Given the description of an element on the screen output the (x, y) to click on. 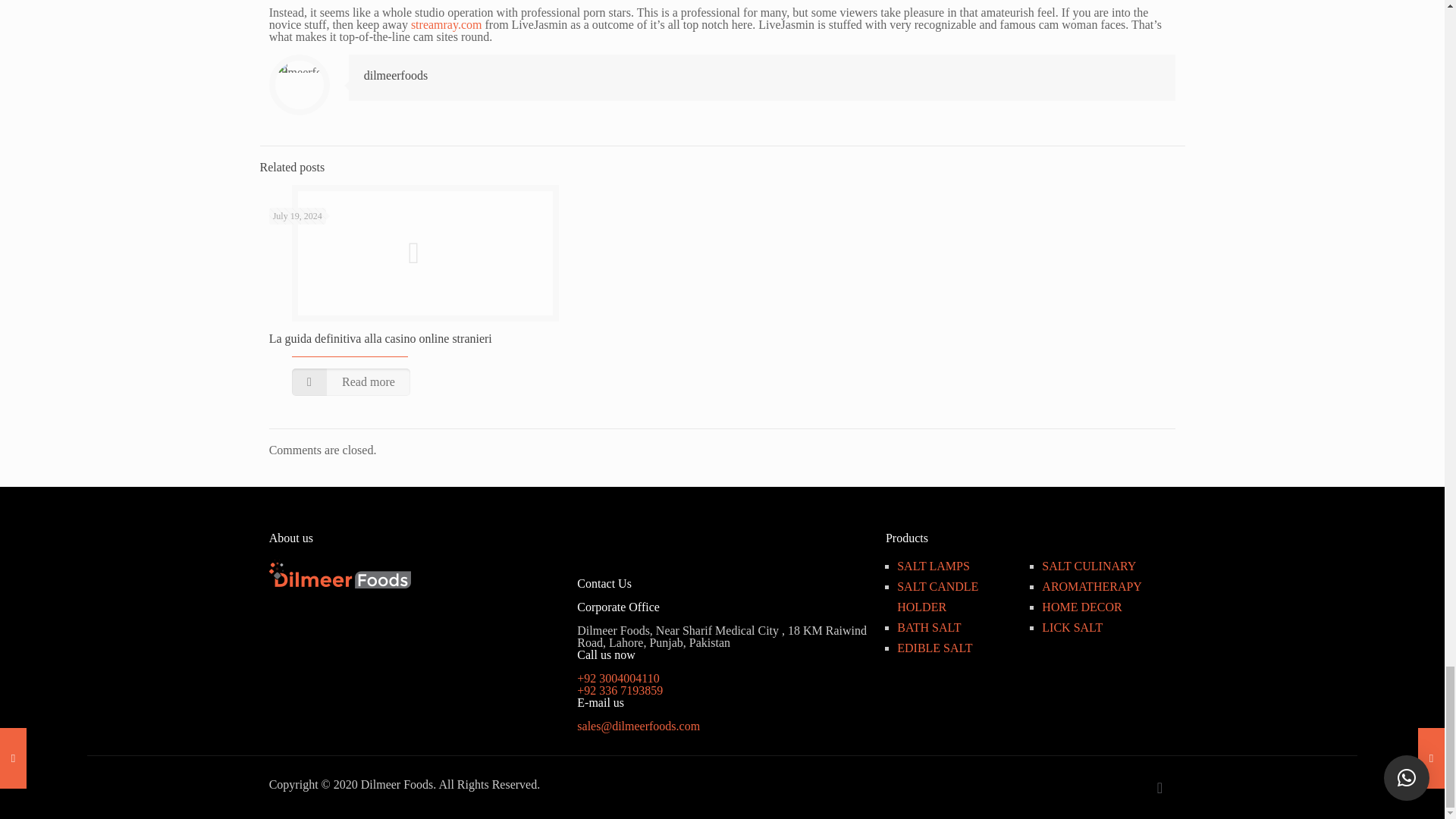
dilmeerfoods (396, 74)
streamray.com (445, 24)
